Given the description of an element on the screen output the (x, y) to click on. 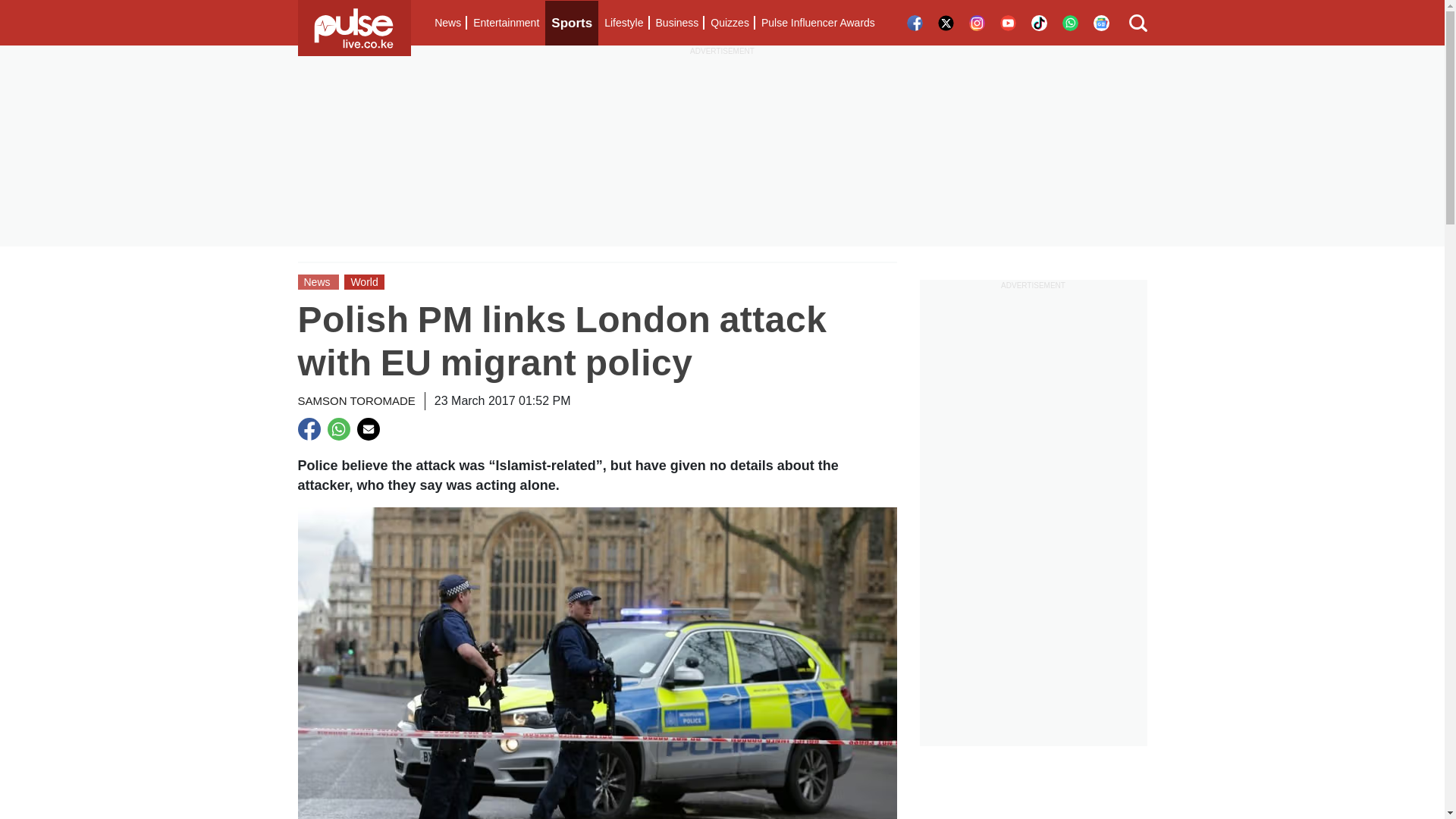
Pulse Influencer Awards (817, 22)
Lifestyle (623, 22)
Business (676, 22)
Entertainment (505, 22)
Quizzes (729, 22)
Sports (571, 22)
